Given the description of an element on the screen output the (x, y) to click on. 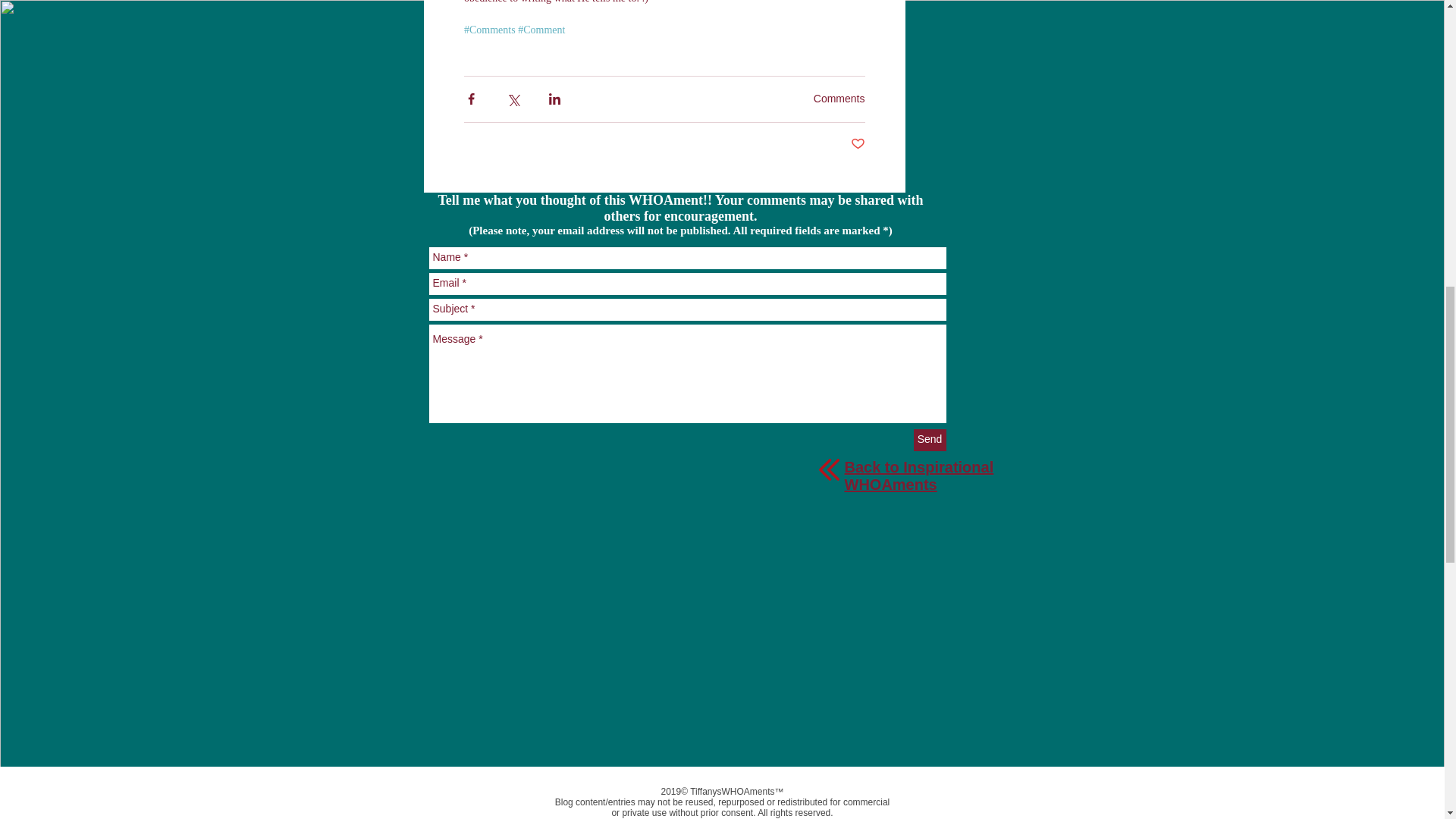
Send (928, 440)
Back to Inspirational WHOAments (919, 475)
Post not marked as liked (857, 144)
Comments (838, 98)
